Given the description of an element on the screen output the (x, y) to click on. 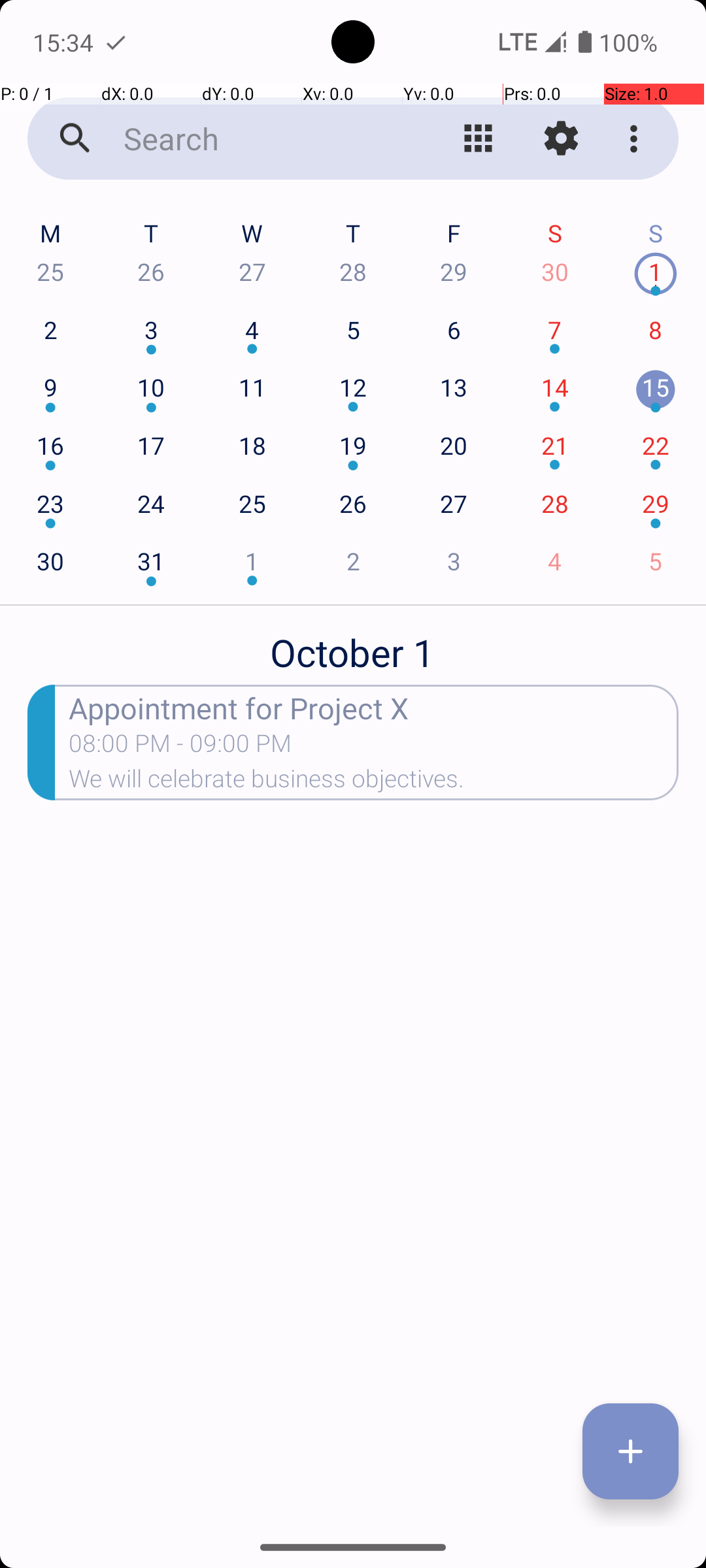
October 1 Element type: android.widget.TextView (352, 644)
08:00 PM - 09:00 PM Element type: android.widget.TextView (179, 747)
We will celebrate business objectives. Element type: android.widget.TextView (373, 782)
